Given the description of an element on the screen output the (x, y) to click on. 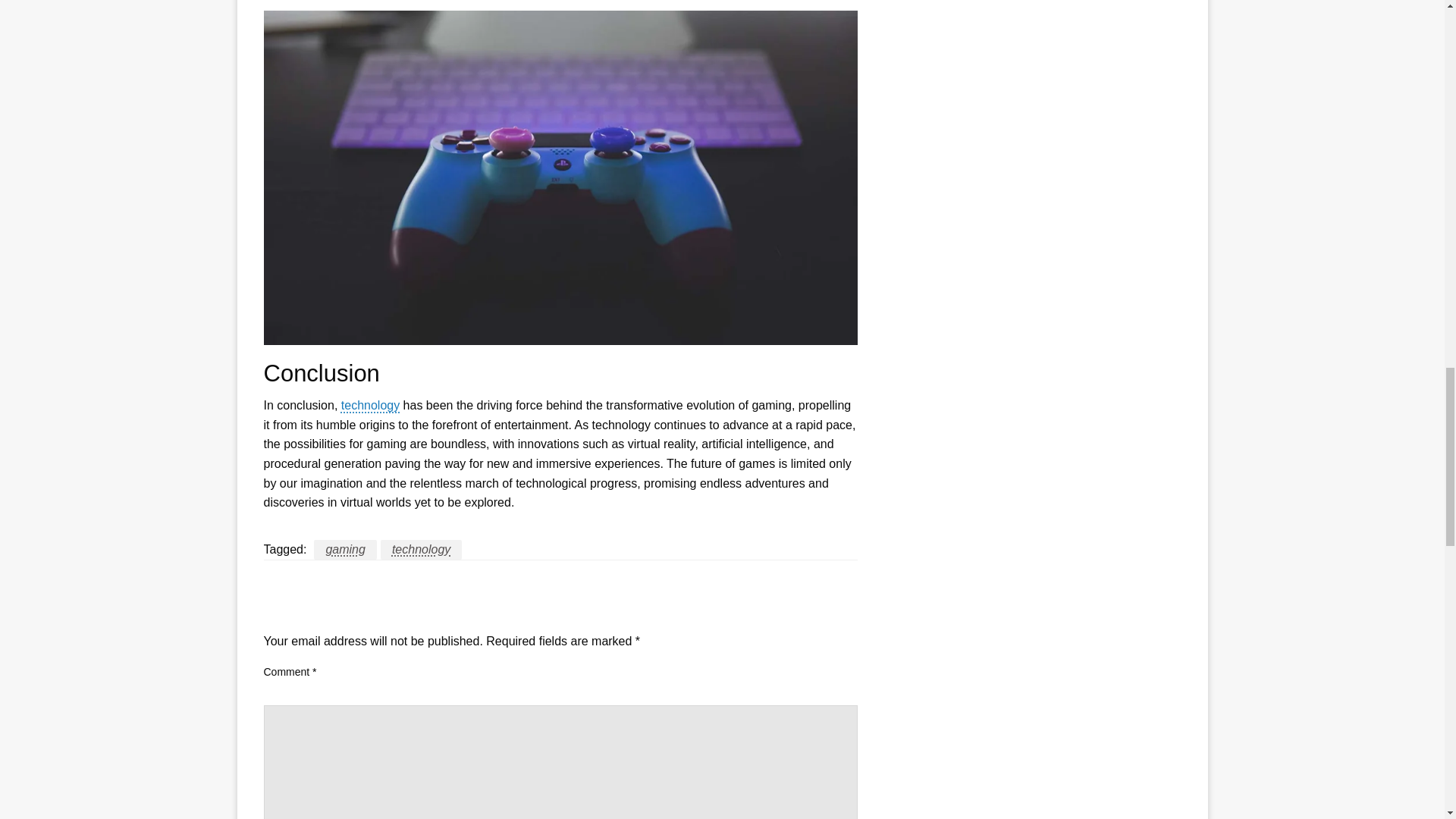
gaming (344, 549)
technology (420, 549)
technology (369, 404)
